Given the description of an element on the screen output the (x, y) to click on. 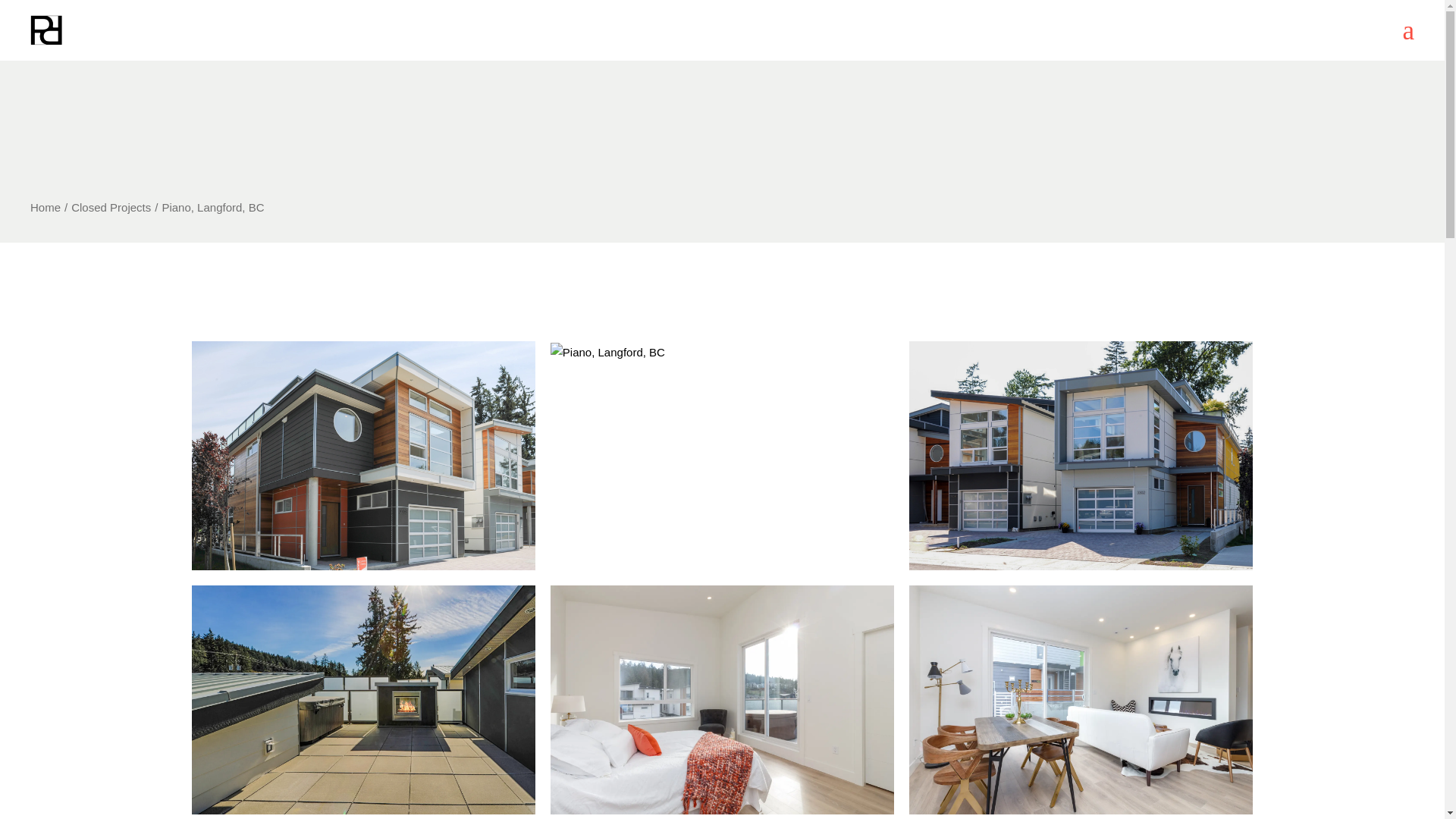
Parsidevelopment-Piano5 (722, 699)
Parsidevelopment-Piano8 (362, 699)
Home (45, 206)
Parsidevelopment-Piano11 (1080, 455)
Parsidevelopment-Piano3 (1080, 699)
Parsidevelopment-Piano13 (362, 455)
Parsidevelopment-Piano12 (722, 351)
Closed Projects (111, 206)
